Given the description of an element on the screen output the (x, y) to click on. 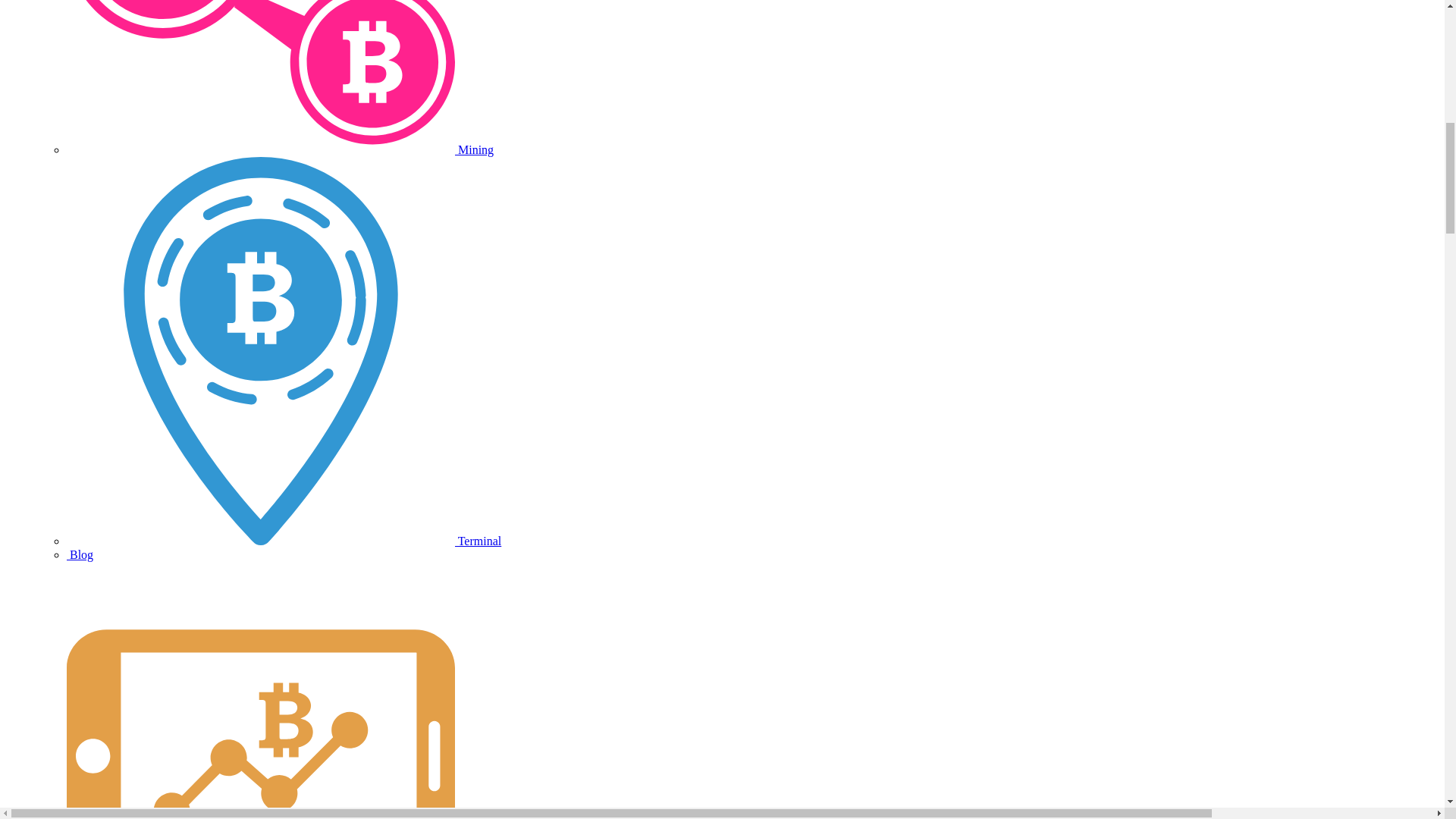
Mining (279, 149)
Terminal (283, 540)
Blog (79, 554)
